Given the description of an element on the screen output the (x, y) to click on. 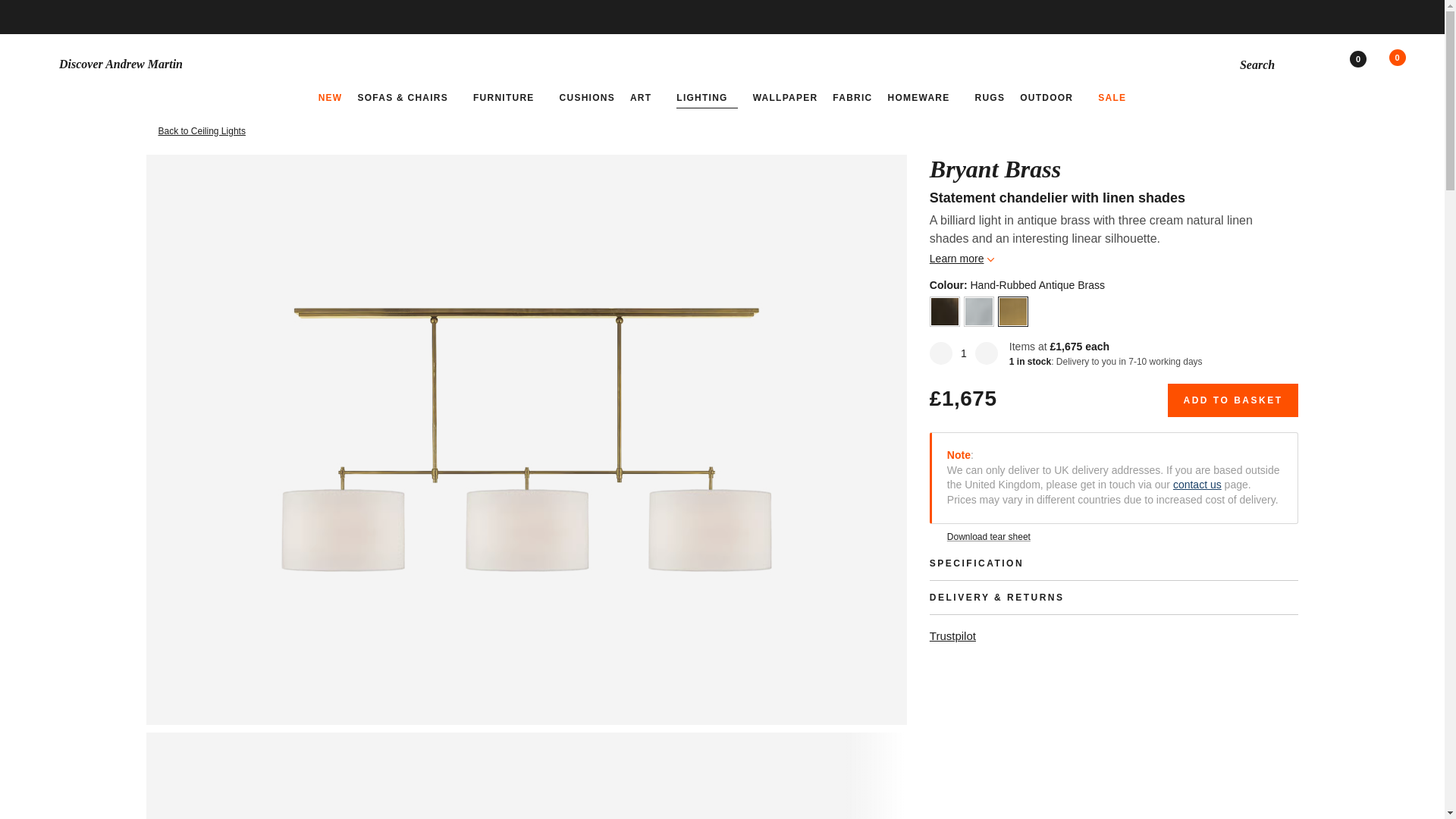
Learn more (962, 258)
1 (963, 353)
NEW (330, 97)
0 (1368, 64)
Search (1270, 64)
0 (1405, 64)
Discover Andrew Martin (261, 64)
FURNITURE (508, 97)
